Given the description of an element on the screen output the (x, y) to click on. 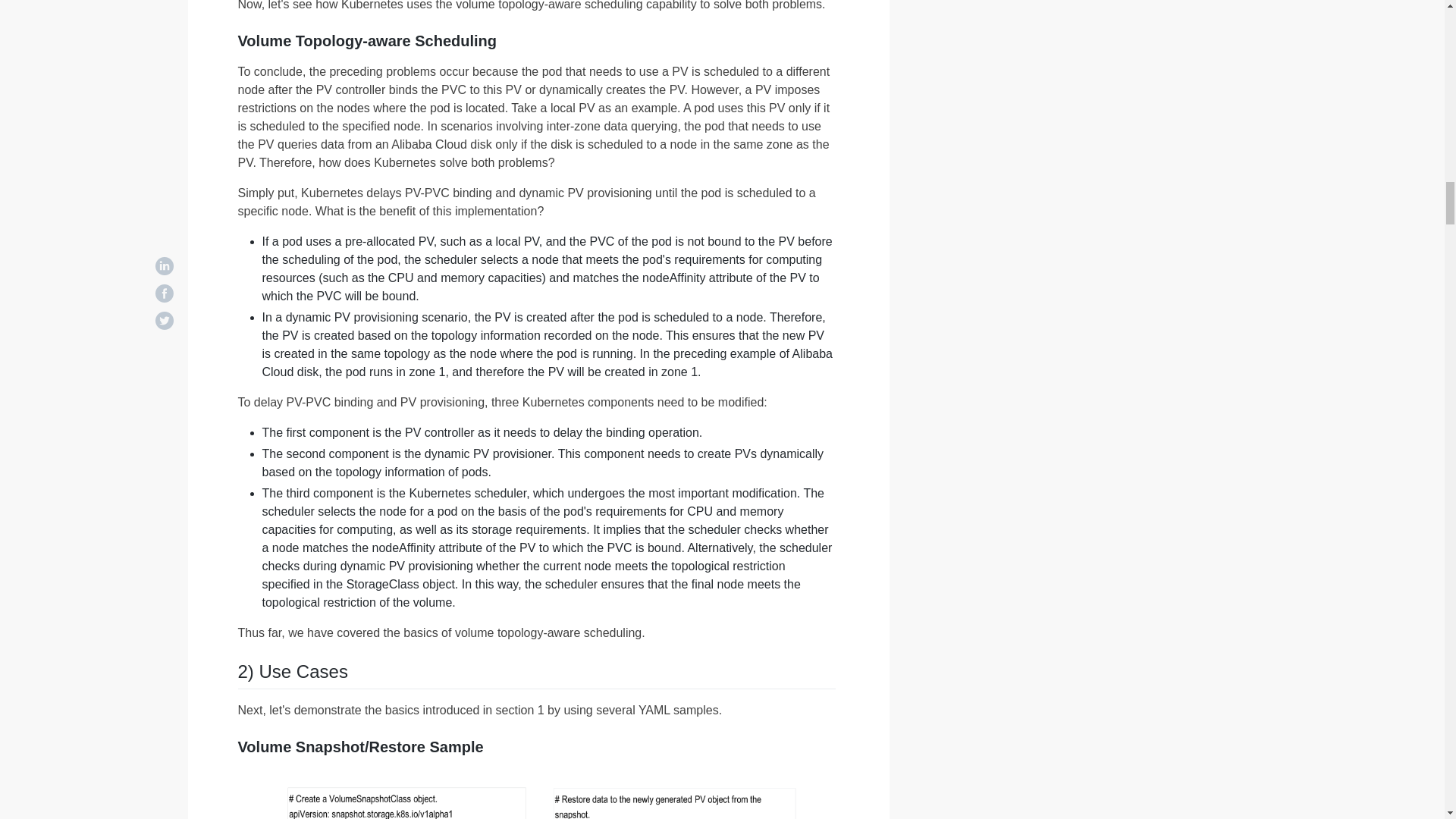
5 (536, 794)
